Given the description of an element on the screen output the (x, y) to click on. 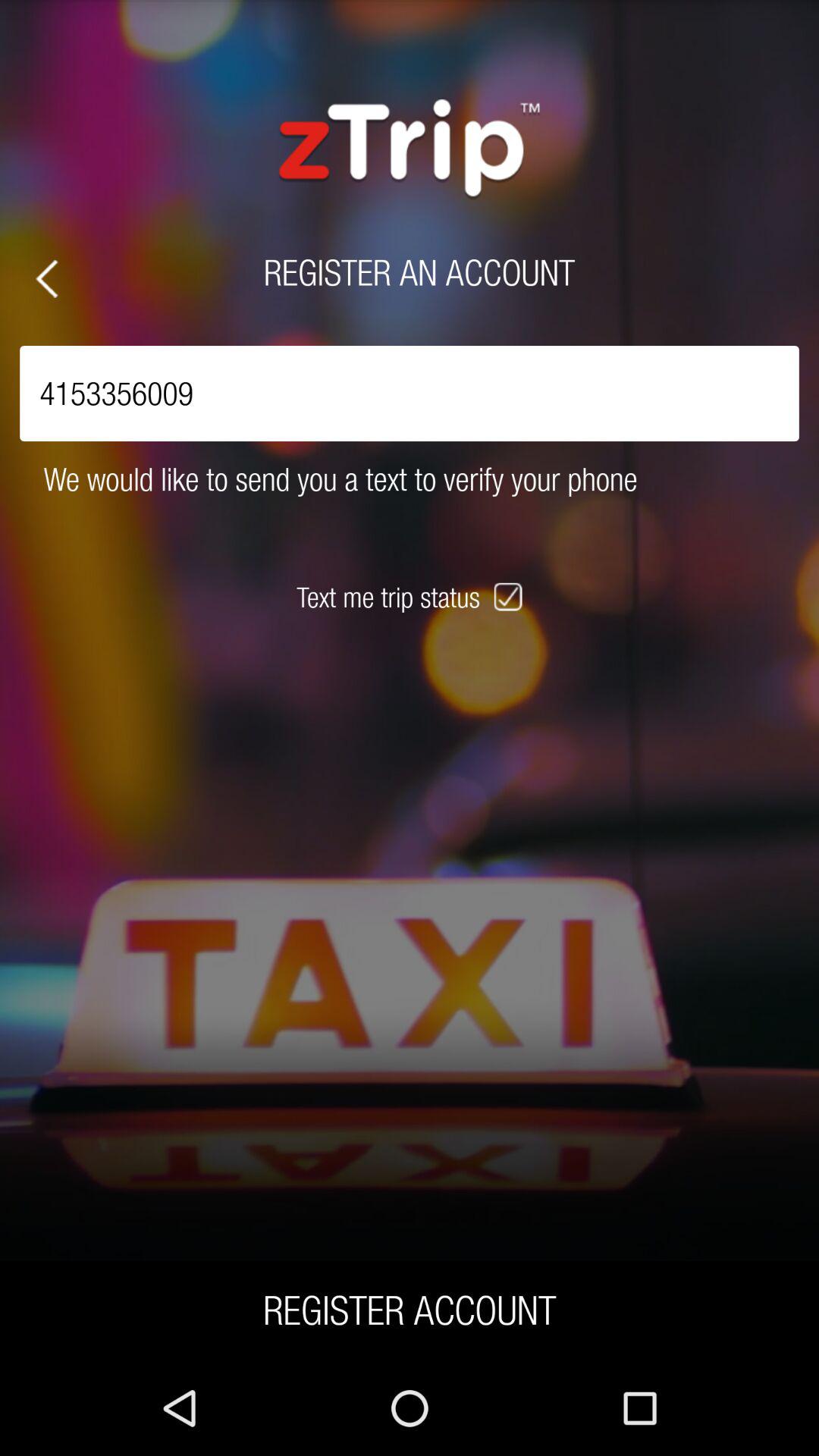
select icon below we would like item (510, 597)
